Given the description of an element on the screen output the (x, y) to click on. 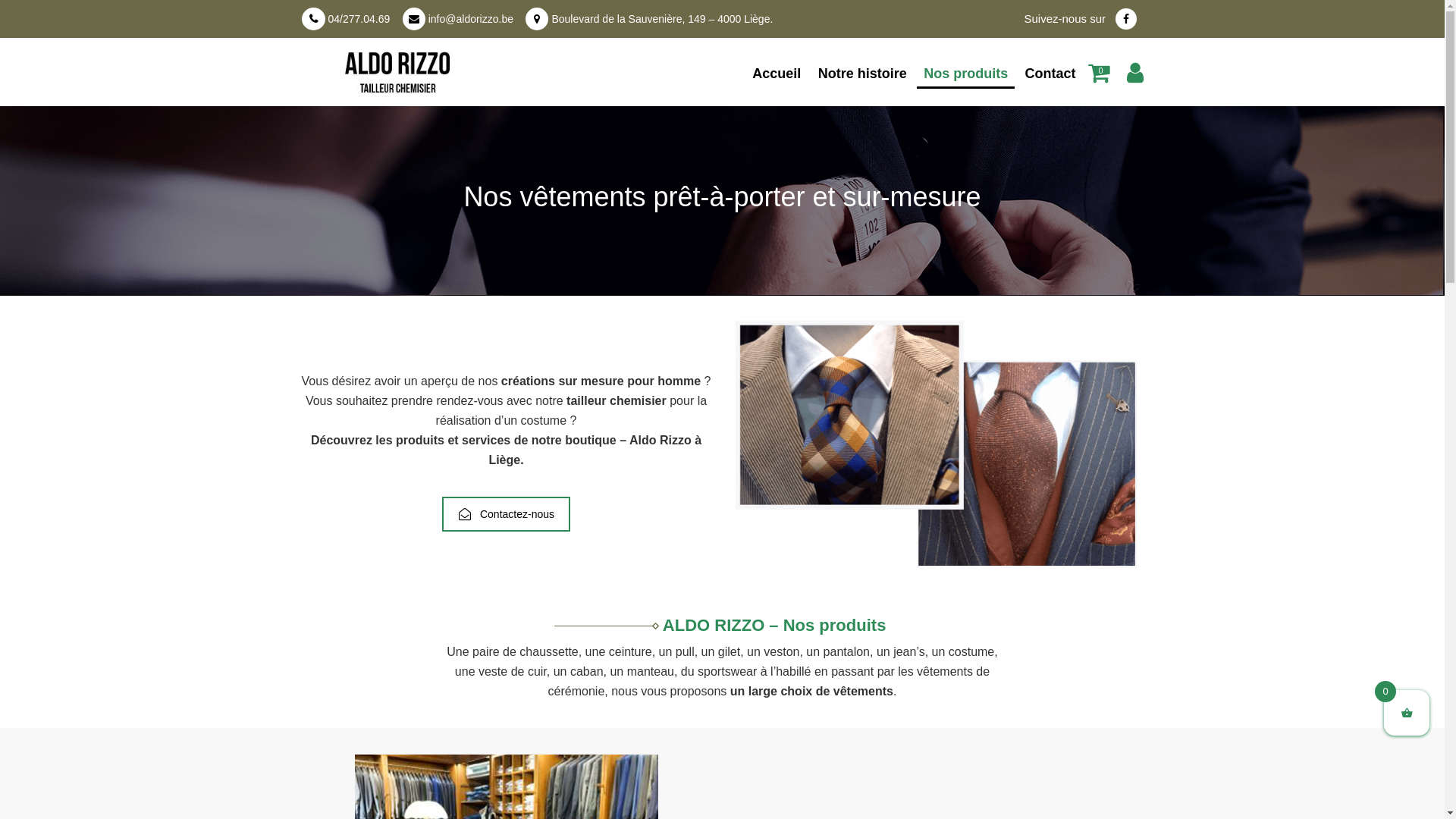
04/277.04.69 Element type: text (358, 18)
info@aldorizzo.be Element type: text (470, 18)
Accueil Element type: text (776, 73)
Nos produits Element type: text (965, 74)
Notre histoire Element type: text (862, 73)
Contactez-nous Element type: text (506, 513)
0 Element type: text (1105, 76)
Contact Element type: text (1050, 73)
